Given the description of an element on the screen output the (x, y) to click on. 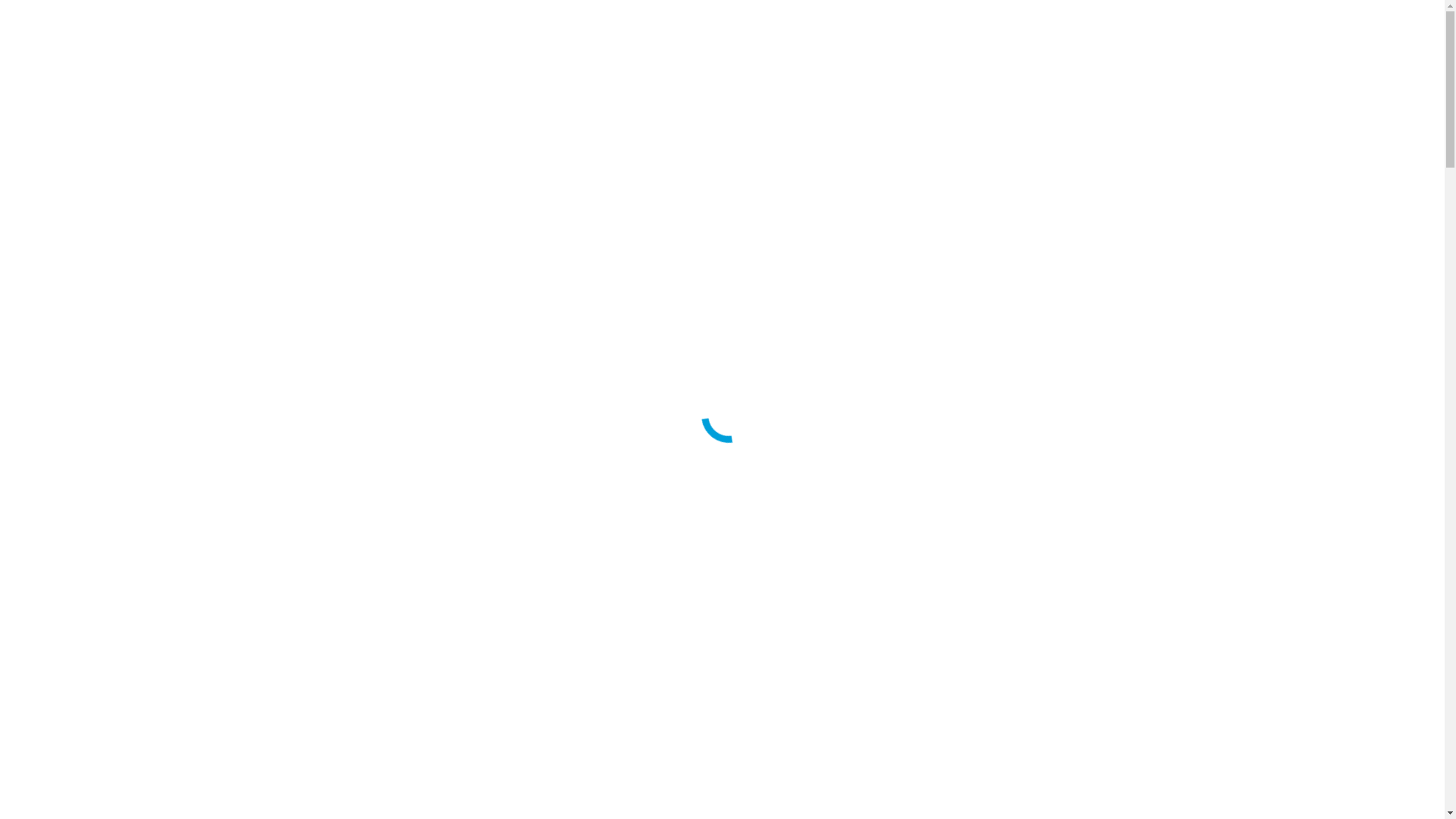
Clients Element type: text (53, 594)
IP specialist and patent attorney firms Element type: text (158, 635)
Research Element type: text (88, 676)
Market research Element type: text (136, 730)
Accounting and management consulting firms Element type: text (178, 197)
Strategy Element type: text (117, 374)
Accounting and management consulting firms Element type: text (178, 608)
IP specialist and patent attorney firms Element type: text (158, 224)
Reports and whitepapers Element type: text (126, 442)
About Element type: text (51, 539)
Our alliances Element type: text (98, 580)
Our team Element type: text (89, 567)
Search form Element type: hover (73, 484)
Market research Element type: text (136, 319)
Brand health Element type: text (128, 703)
Competitor benchmarking Element type: text (160, 279)
Built and natural environment consulting firms Element type: text (180, 621)
Our alliances Element type: text (98, 169)
Business development Element type: text (151, 347)
CX transformation Element type: text (142, 771)
Law firms Element type: text (91, 649)
Blog Element type: text (78, 415)
CX transformation Element type: text (142, 360)
About Element type: text (51, 128)
Pricing Element type: text (114, 388)
Go! Element type: text (20, 500)
Our team Element type: text (89, 156)
Built and natural environment consulting firms Element type: text (180, 210)
Clients Element type: text (53, 183)
Research Element type: text (88, 265)
Client feedback tools Element type: text (148, 306)
Pricing Element type: text (114, 799)
Our firm Element type: text (87, 142)
Skip to content Element type: text (42, 12)
Law firms Element type: text (91, 238)
Strategy Element type: text (117, 785)
Contact Us Element type: text (33, 514)
Client feedback tools Element type: text (148, 717)
Competitor benchmarking Element type: text (160, 690)
Services Element type: text (56, 662)
Events Element type: text (83, 429)
Consulting Element type: text (92, 333)
Business development Element type: text (151, 758)
Consulting Element type: text (92, 744)
Brand health Element type: text (128, 292)
Insights Element type: text (55, 401)
Our firm Element type: text (87, 553)
Services Element type: text (56, 251)
